Given the description of an element on the screen output the (x, y) to click on. 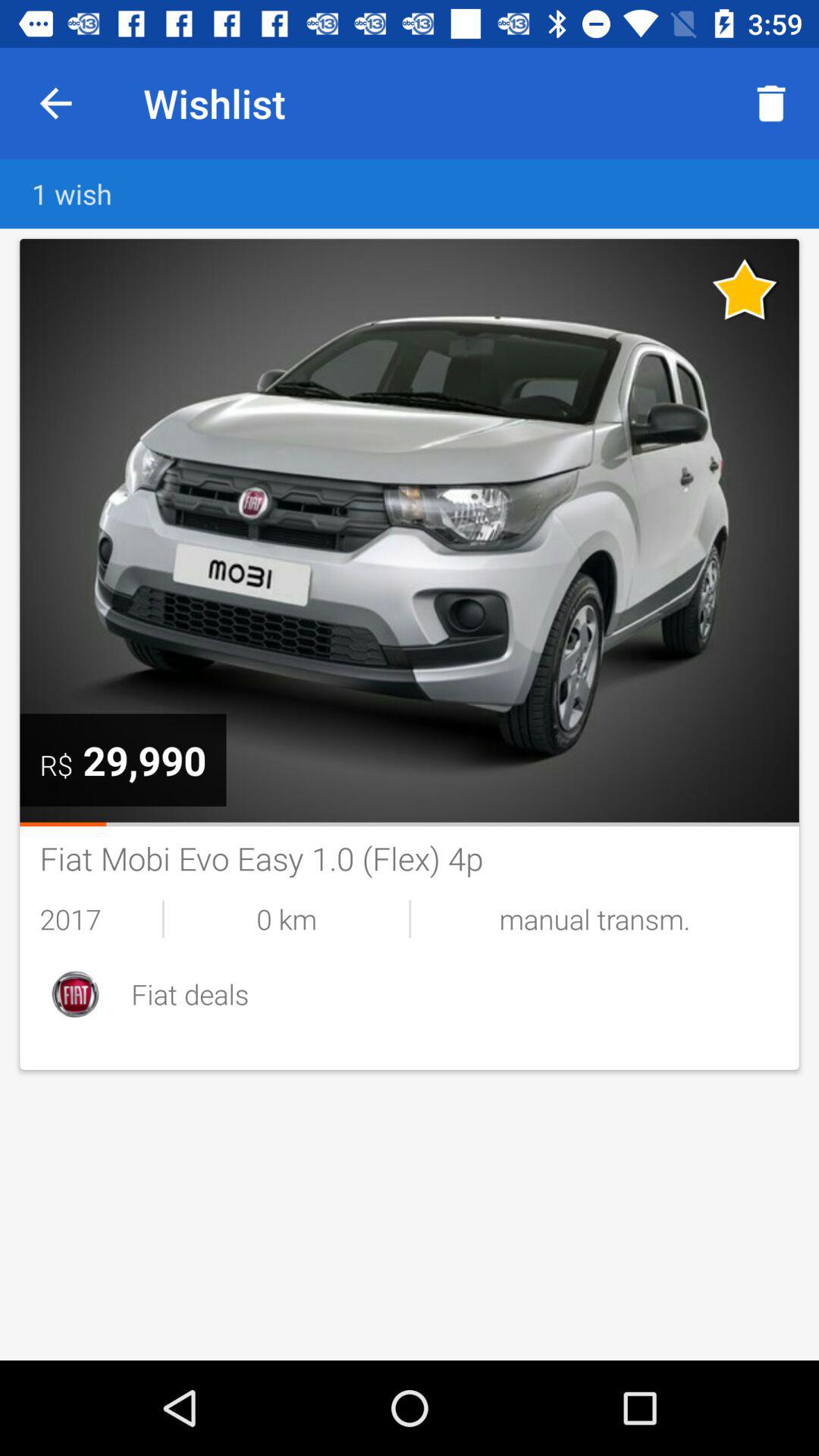
tap the icon next to the 29,990 icon (55, 764)
